Given the description of an element on the screen output the (x, y) to click on. 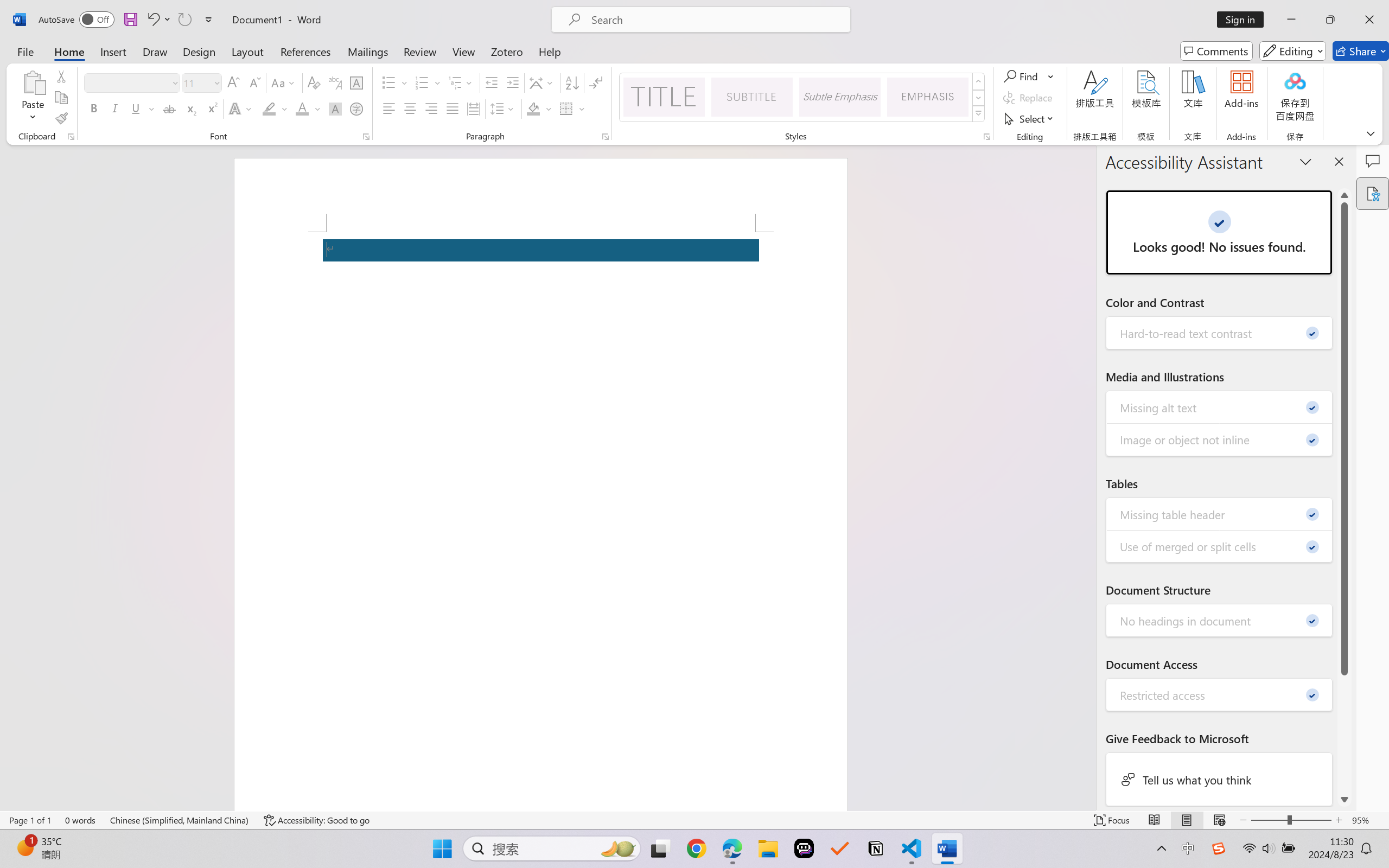
Missing alt text - 0 (1219, 407)
Accessibility Assistant (1373, 193)
Text Highlight Color RGB(255, 255, 0) (269, 108)
Image or object not inline - 0 (1219, 438)
Repeat Accessibility Checker (184, 19)
